Given the description of an element on the screen output the (x, y) to click on. 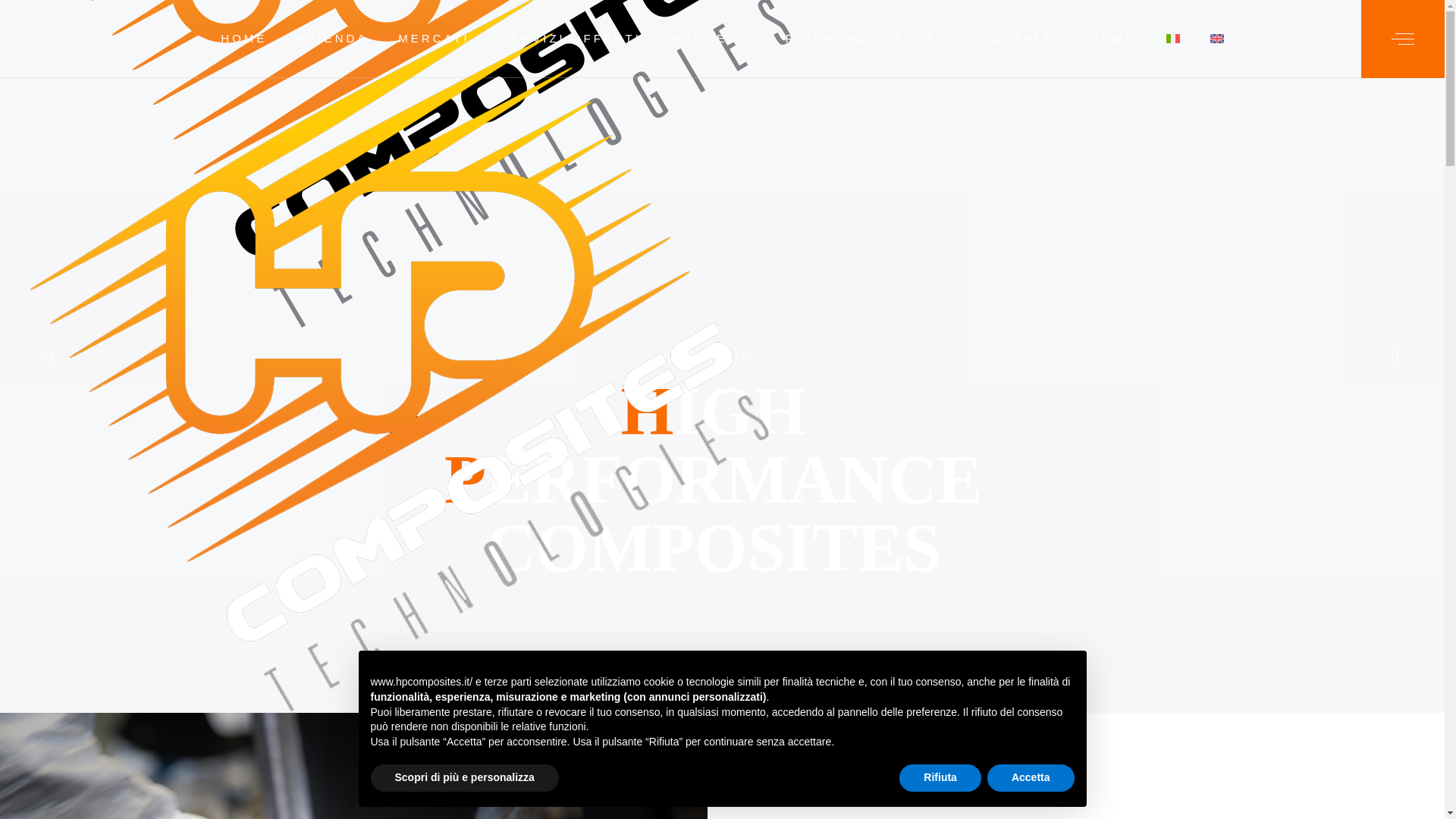
NEWS (1112, 38)
SERVIZI OFFERTI (570, 38)
PROCESSI (713, 38)
CONTATTI (1018, 38)
AZIENDA (332, 38)
HOME (243, 38)
MERCATI (433, 38)
